Given the description of an element on the screen output the (x, y) to click on. 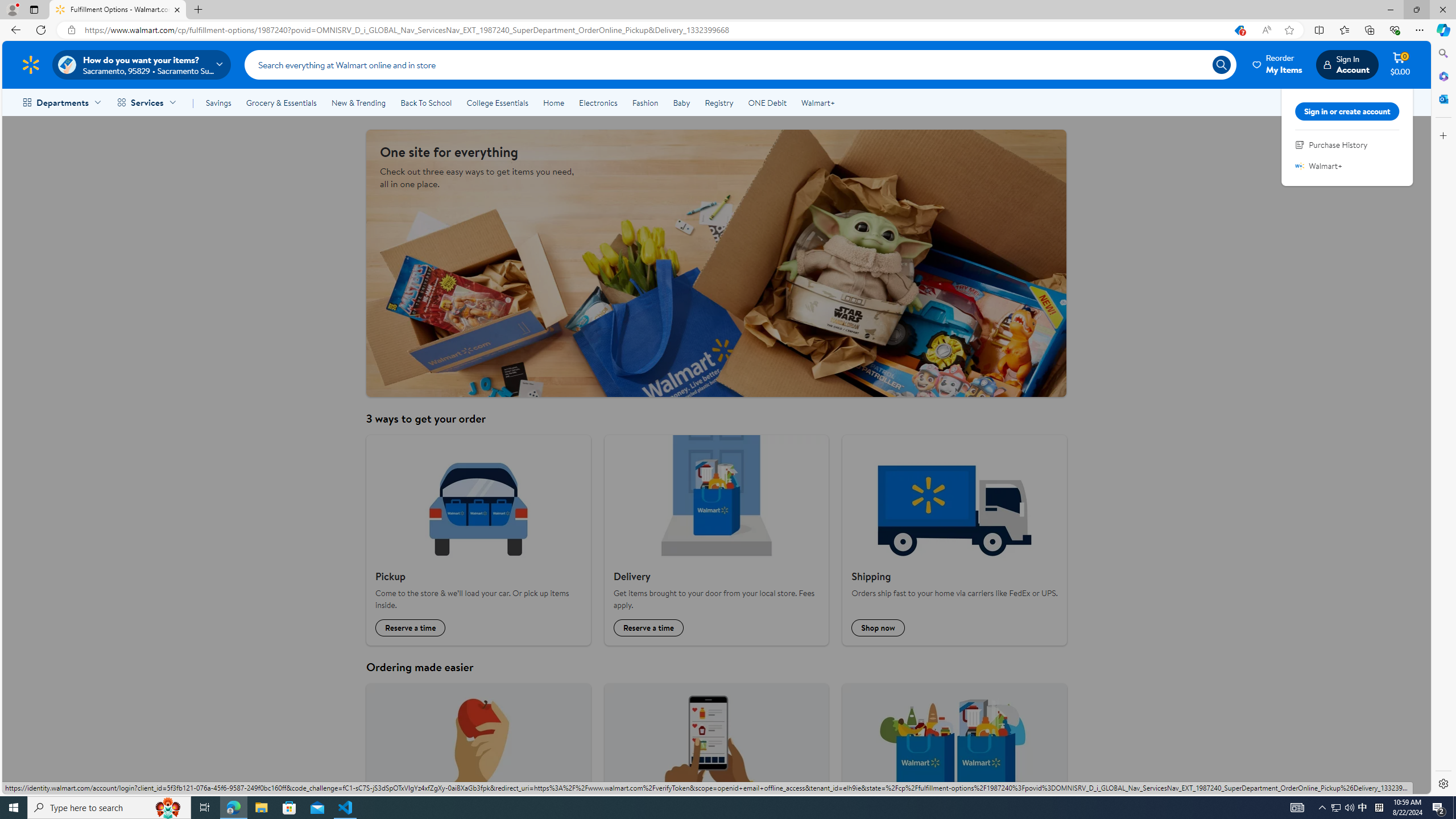
Outlook (1442, 98)
Registry (718, 102)
Reorder My Items (1277, 64)
College Essentials (496, 102)
Fulfillment Options - Walmart.com (117, 9)
Grocery & Essentials (280, 102)
Walmart+ Walmart+ (1346, 165)
Fashion (644, 102)
